Given the description of an element on the screen output the (x, y) to click on. 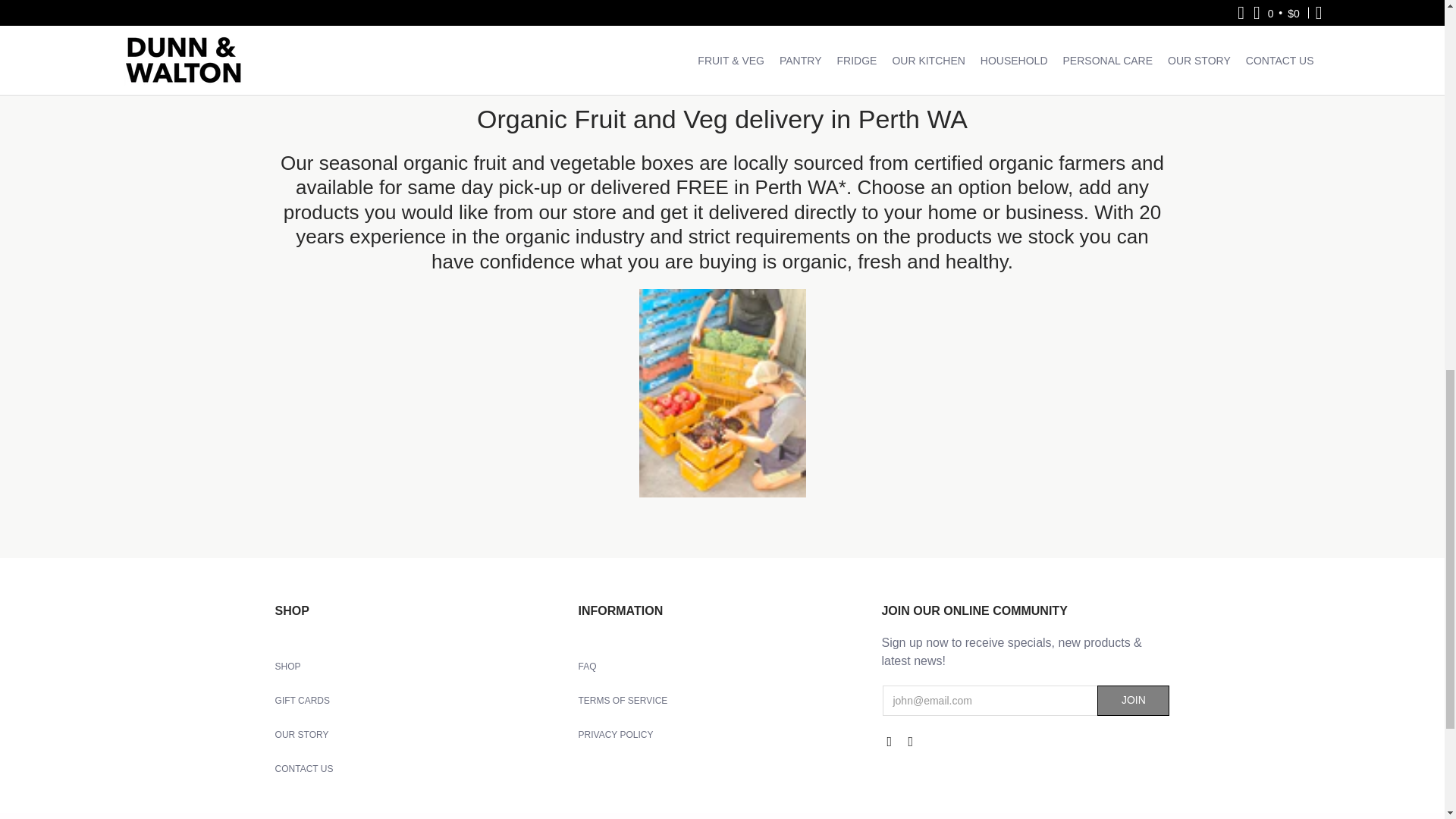
JOIN (1133, 700)
